Given the description of an element on the screen output the (x, y) to click on. 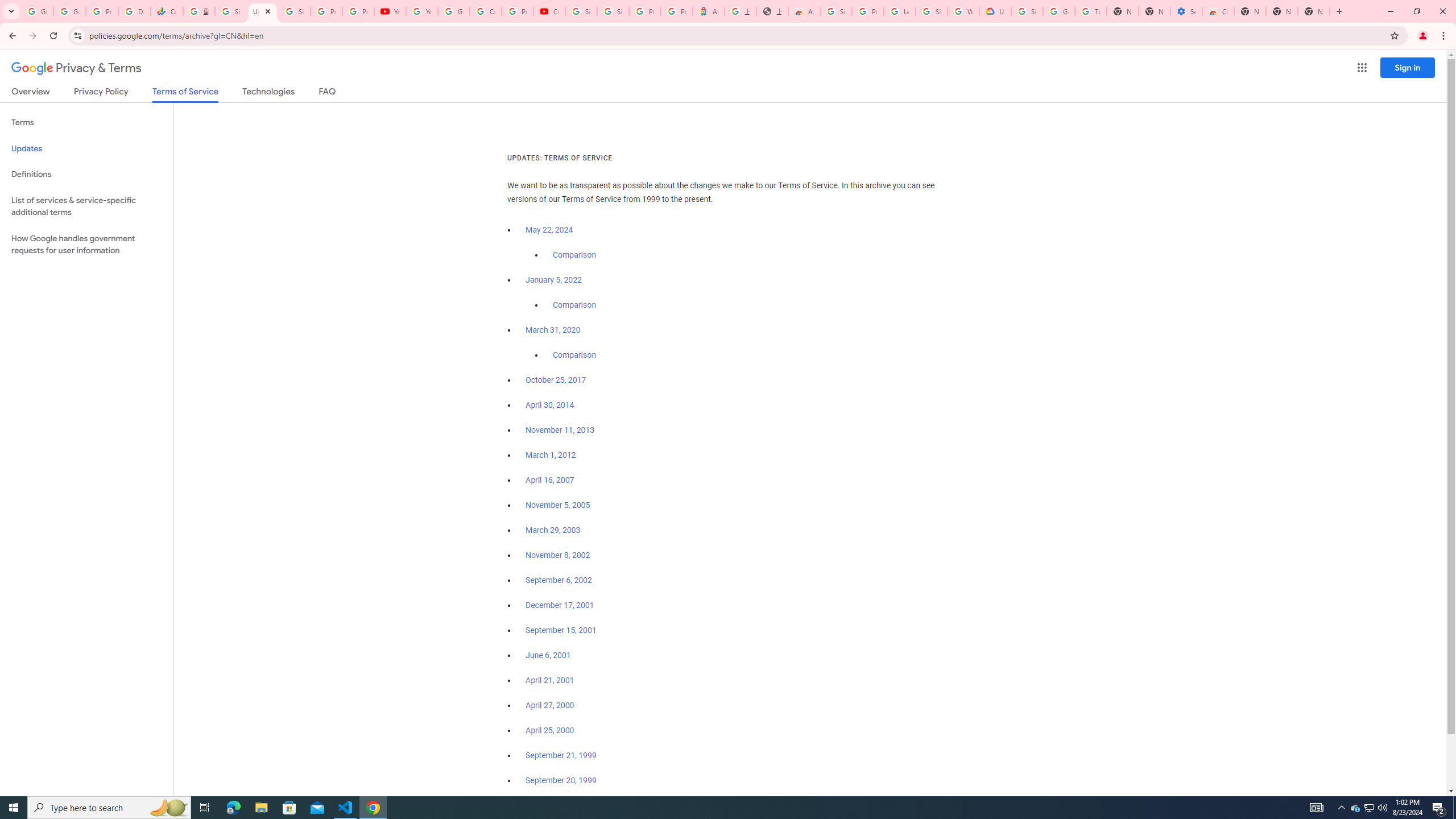
Sign in - Google Accounts (1027, 11)
How Google handles government requests for user information (86, 244)
Privacy Checkup (358, 11)
Sign in - Google Accounts (613, 11)
Content Creator Programs & Opportunities - YouTube Creators (549, 11)
November 8, 2002 (557, 555)
Awesome Screen Recorder & Screenshot - Chrome Web Store (804, 11)
Google Account Help (1059, 11)
Sign in - Google Accounts (294, 11)
January 5, 2022 (553, 280)
YouTube (389, 11)
